Given the description of an element on the screen output the (x, y) to click on. 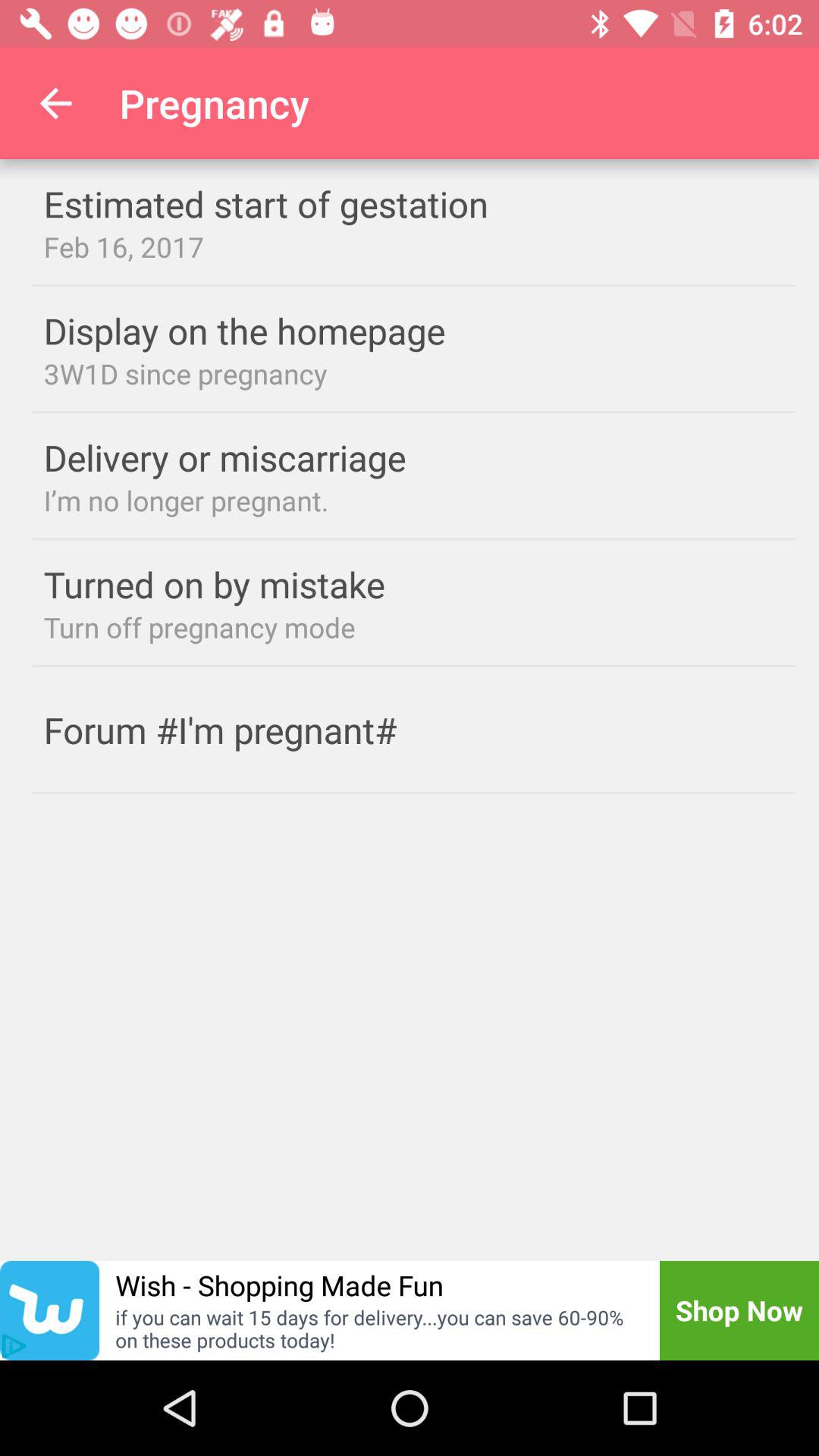
select the item next to if you can item (14, 1346)
